Given the description of an element on the screen output the (x, y) to click on. 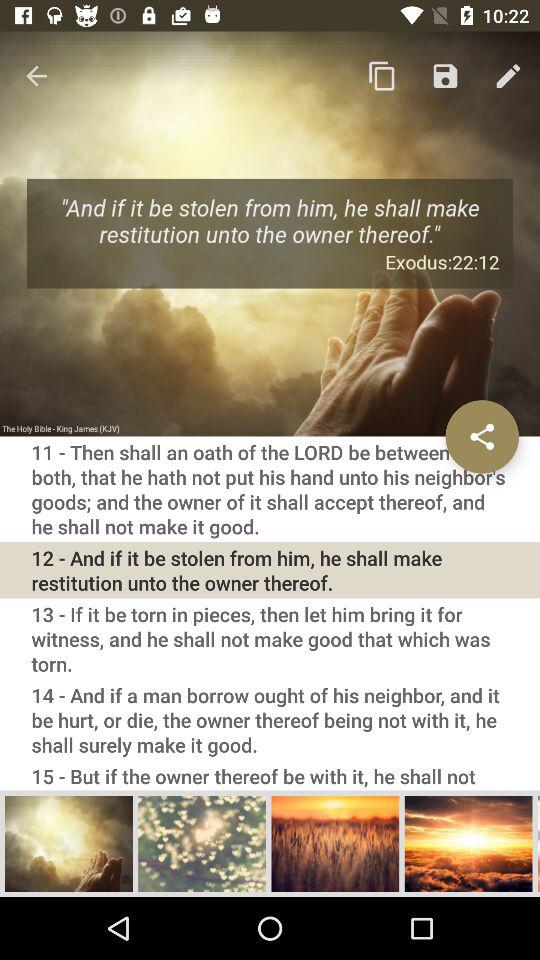
share icon (482, 436)
